Given the description of an element on the screen output the (x, y) to click on. 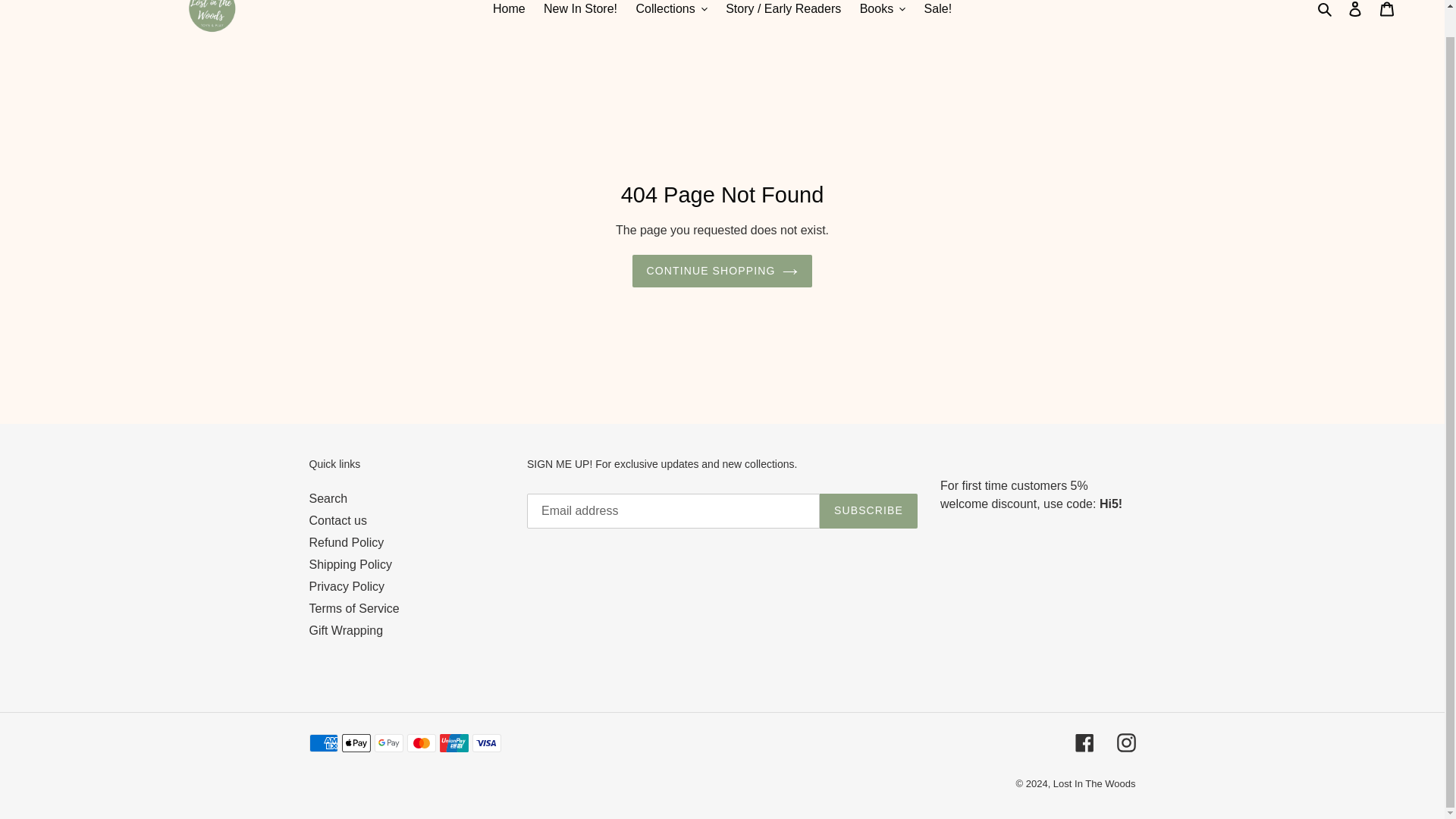
Collections (670, 9)
Books (881, 9)
Log in (1355, 12)
New In Store! (579, 9)
Sale! (938, 9)
Search (1326, 9)
Cart (1387, 12)
Home (508, 9)
